Given the description of an element on the screen output the (x, y) to click on. 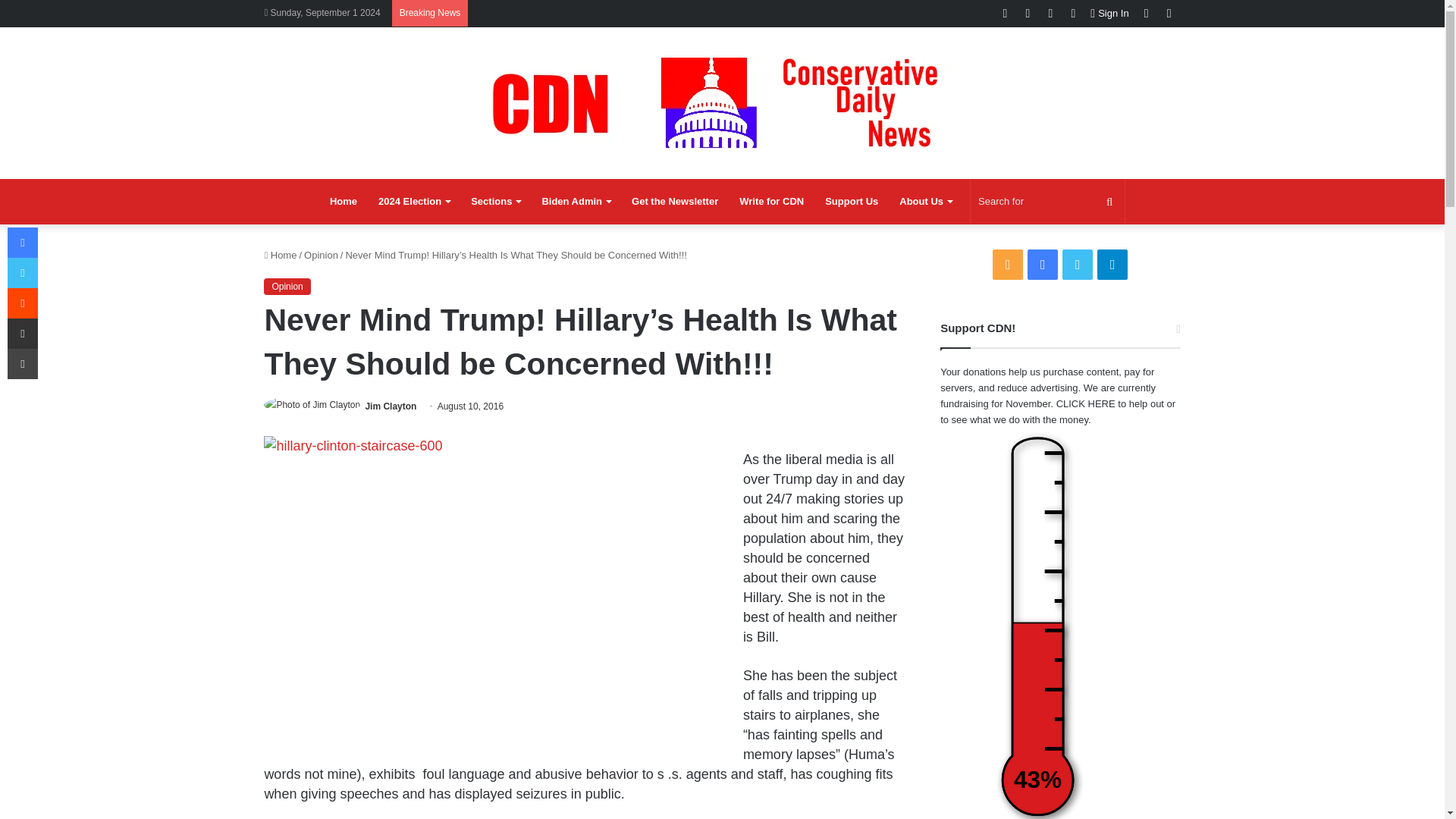
2024 Election (414, 201)
Conservative Daily News (721, 102)
Sections (495, 201)
Get the Newsletter (675, 201)
Search for (1047, 201)
Become a CDN Contributor (771, 201)
Biden Admin (576, 201)
Home (343, 201)
Jim Clayton (390, 406)
Support CDN With a Small Donation (850, 201)
